Given the description of an element on the screen output the (x, y) to click on. 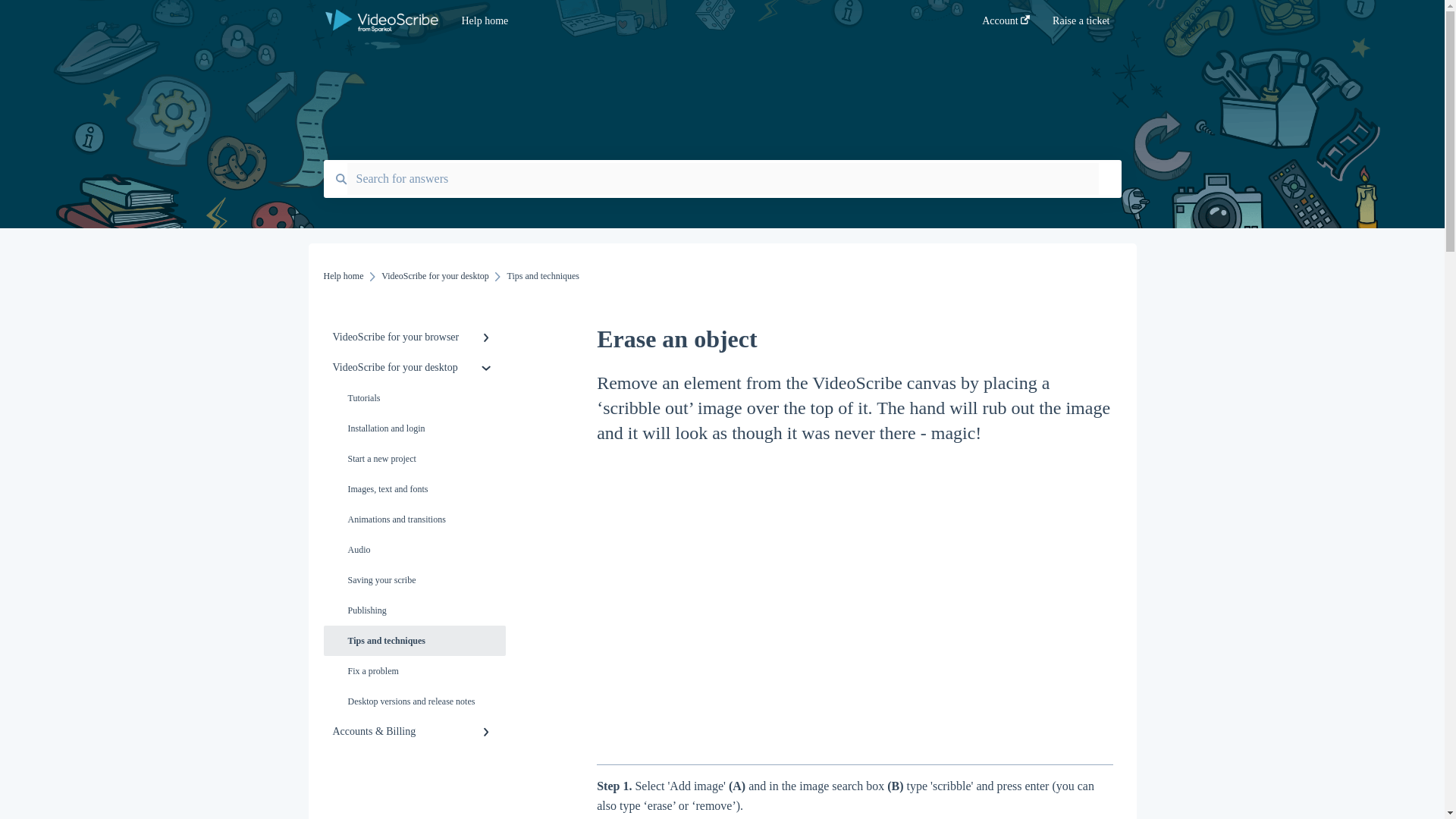
Help home (342, 276)
VideoScribe for your browser (414, 337)
Help home (698, 21)
Raise a ticket (1080, 25)
Account (1005, 25)
VideoScribe for your desktop (435, 276)
